Given the description of an element on the screen output the (x, y) to click on. 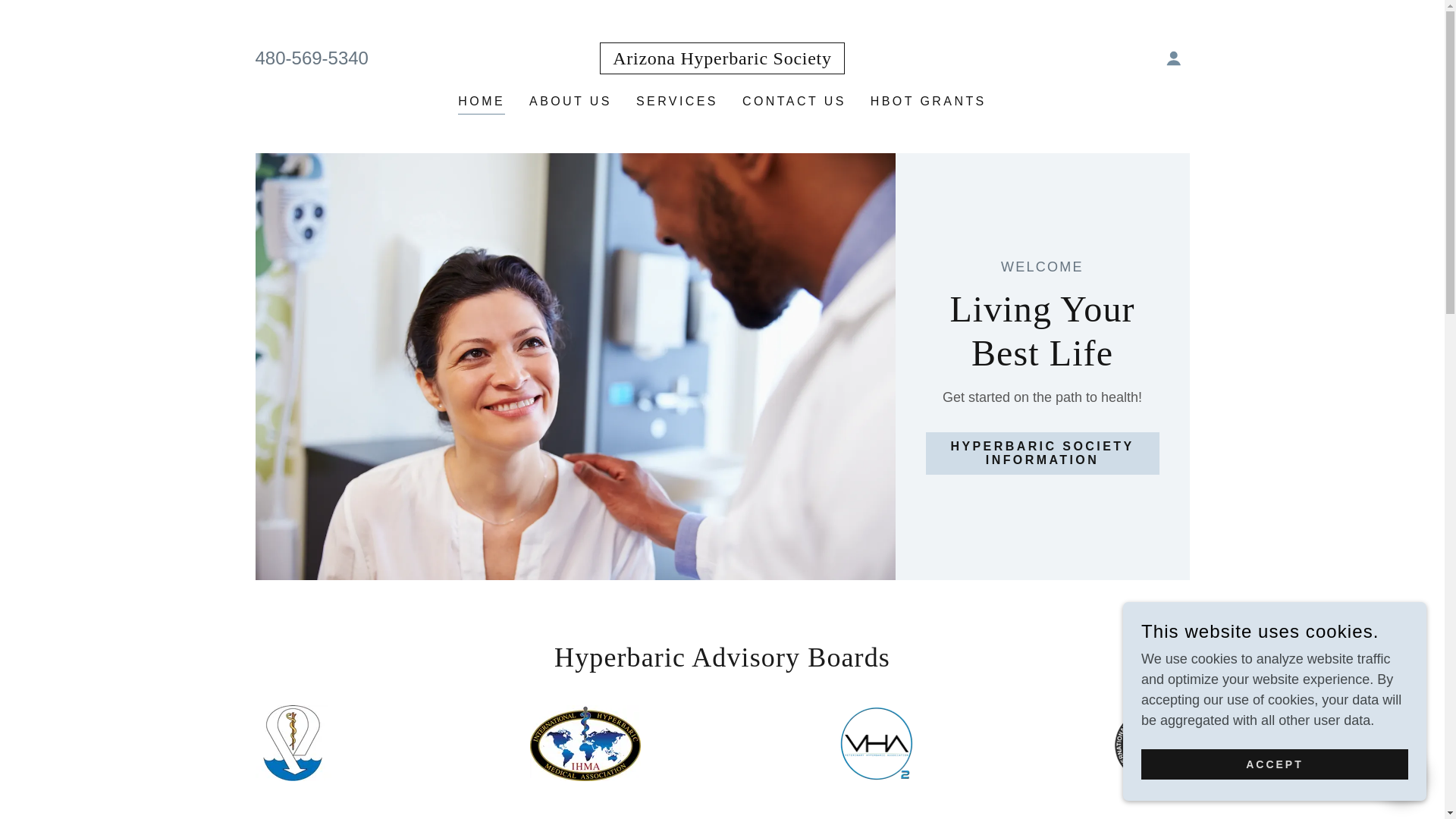
CONTACT US (794, 101)
SERVICES (676, 101)
HOME (481, 103)
HBOT GRANTS (928, 101)
Arizona Hyperbaric Society (721, 59)
ACCEPT (1274, 764)
480-569-5340 (311, 57)
ABOUT US (569, 101)
HYPERBARIC SOCIETY INFORMATION (1041, 453)
Arizona Hyperbaric Society (721, 59)
